Given the description of an element on the screen output the (x, y) to click on. 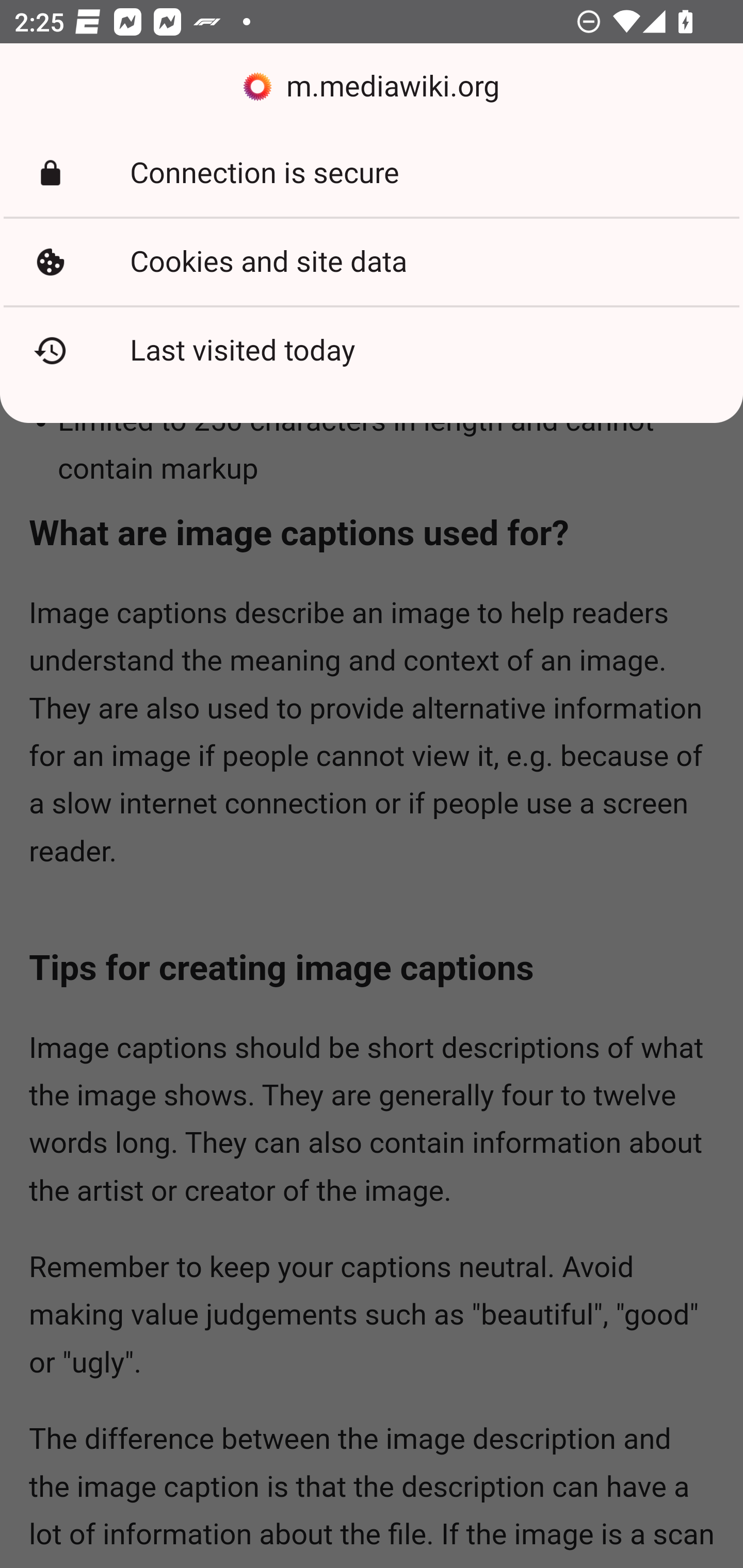
m.mediawiki.org (371, 86)
Connection is secure (371, 173)
Cookies and site data (371, 261)
Last visited today (371, 350)
